Given the description of an element on the screen output the (x, y) to click on. 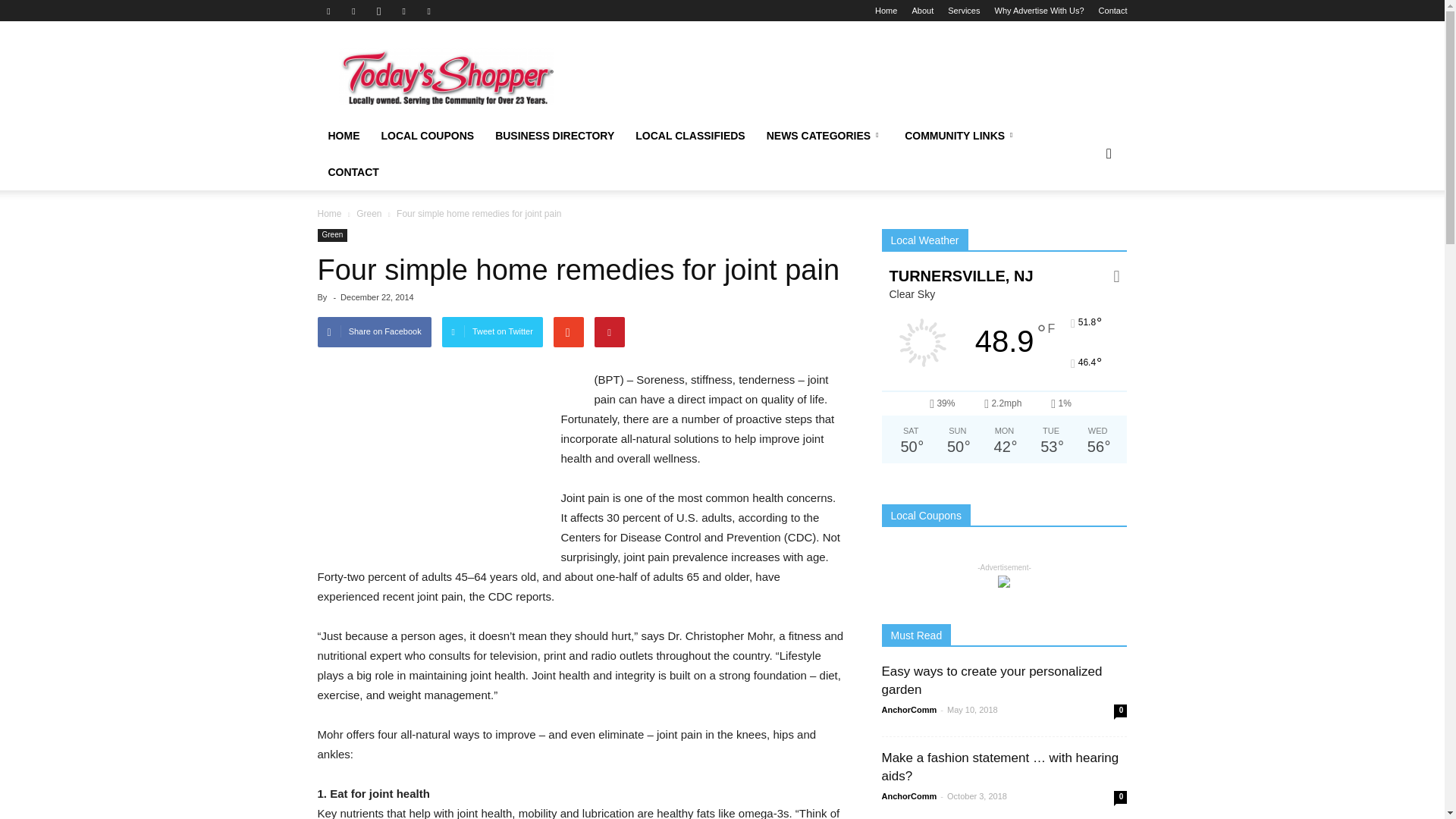
Facebook (328, 10)
View all posts in Green (370, 213)
Your Source for Local Coupons and Classifieds (445, 76)
Twitter (403, 10)
Instagram (379, 10)
Youtube (429, 10)
